Given the description of an element on the screen output the (x, y) to click on. 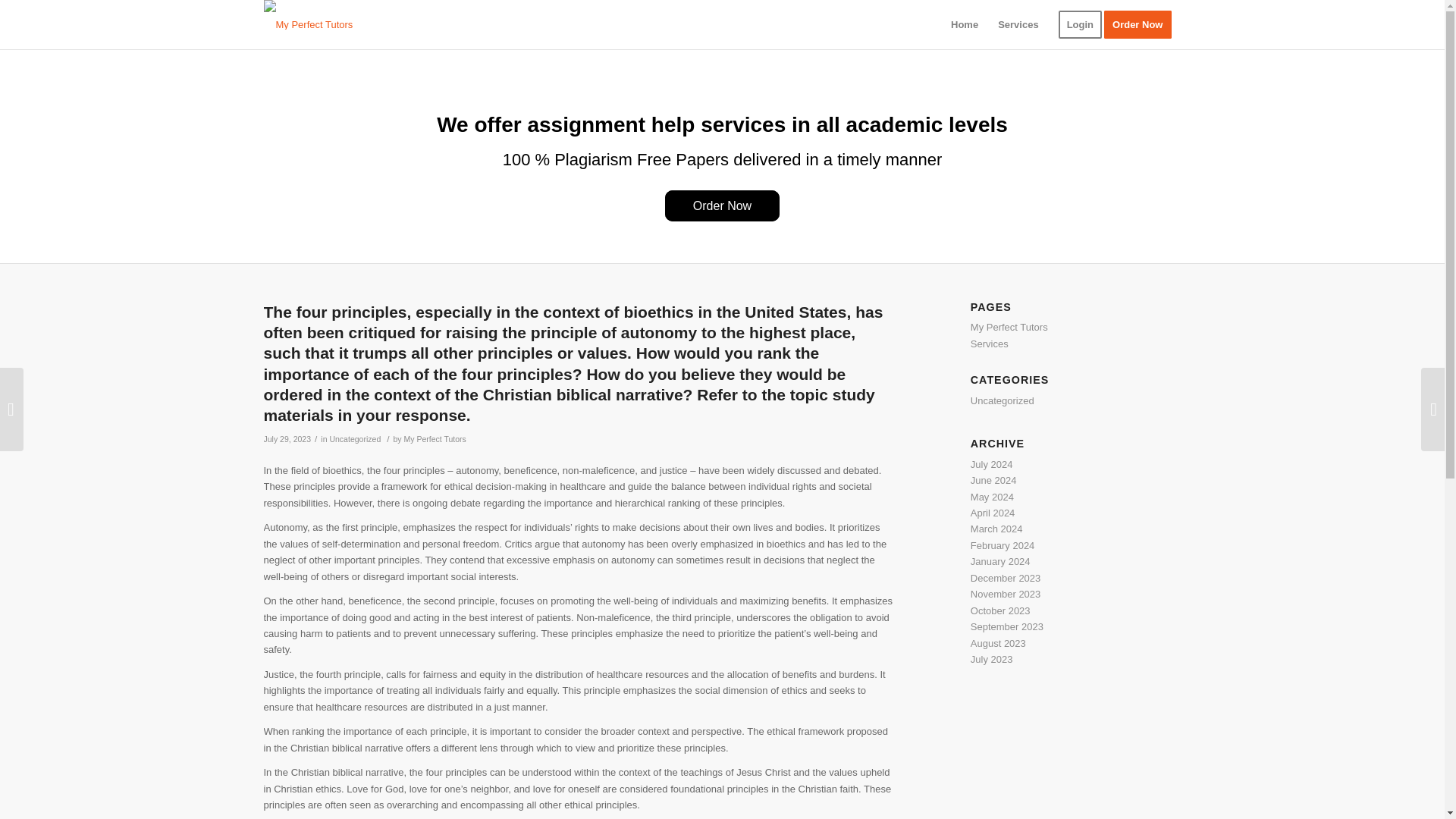
August 2023 (998, 643)
Uncategorized (1002, 400)
My Perfect Tutors (1009, 326)
March 2024 (997, 528)
Login (1080, 24)
Services (1018, 24)
April 2024 (992, 512)
July 2023 (992, 659)
Order Now (1141, 24)
January 2024 (1000, 561)
